Given the description of an element on the screen output the (x, y) to click on. 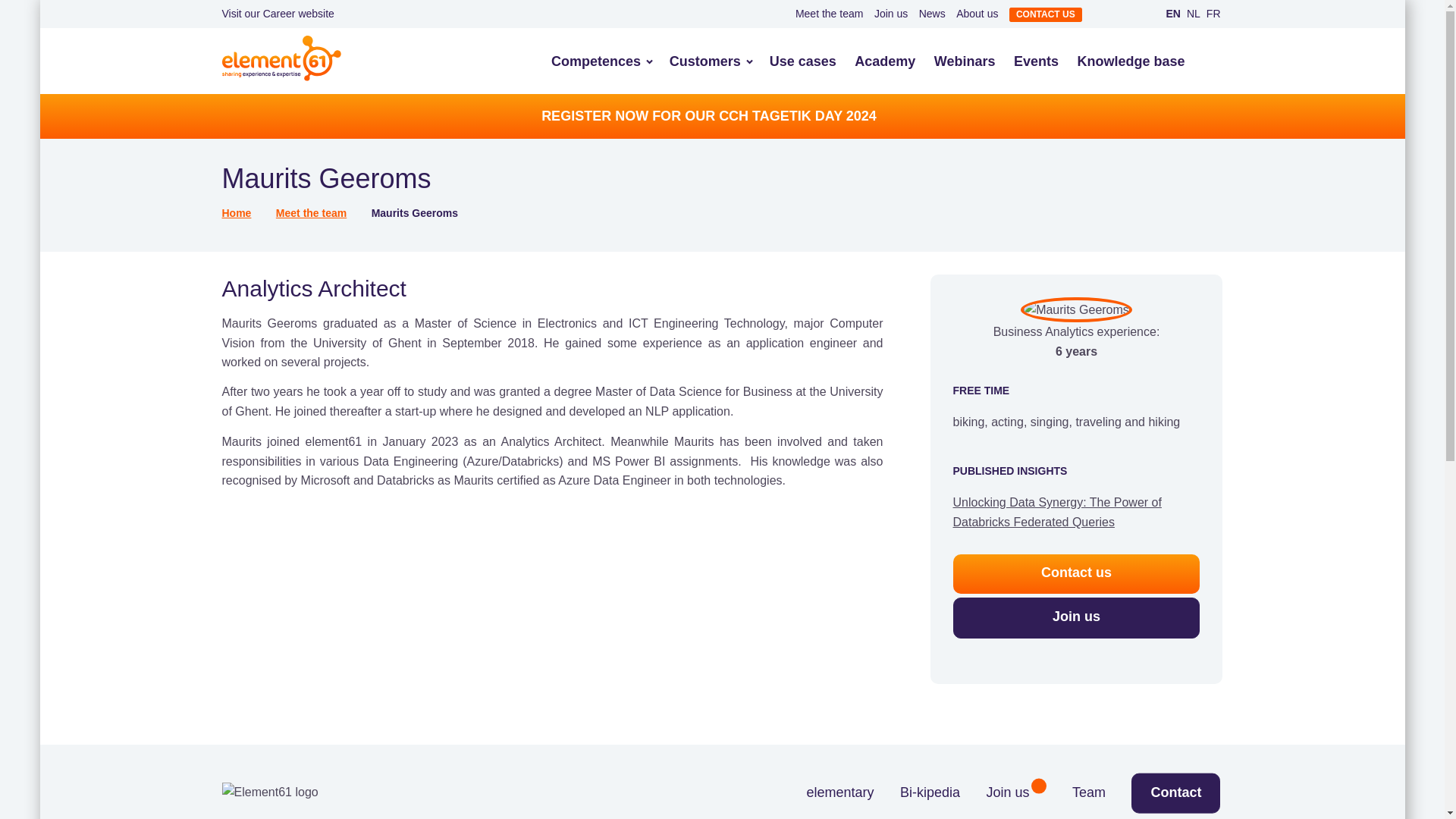
Customers (705, 69)
EN (1172, 13)
LinkedIn (1104, 14)
Twitter (1139, 14)
News (931, 13)
Meet the team (828, 13)
Maurits Geeroms (1076, 309)
Visit our Career website (277, 13)
NL (1193, 13)
CONTACT US (1045, 14)
